Given the description of an element on the screen output the (x, y) to click on. 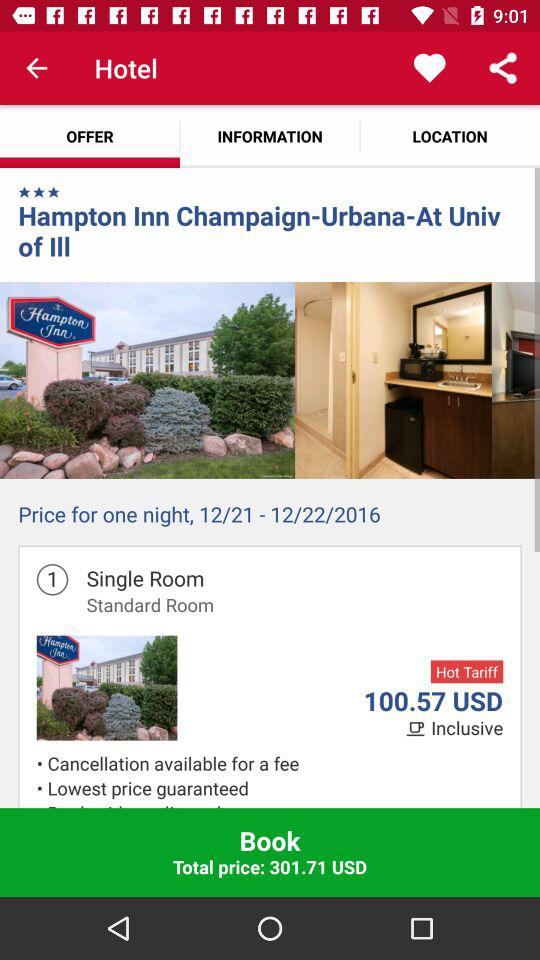
tap icon next to the single room item (52, 579)
